Given the description of an element on the screen output the (x, y) to click on. 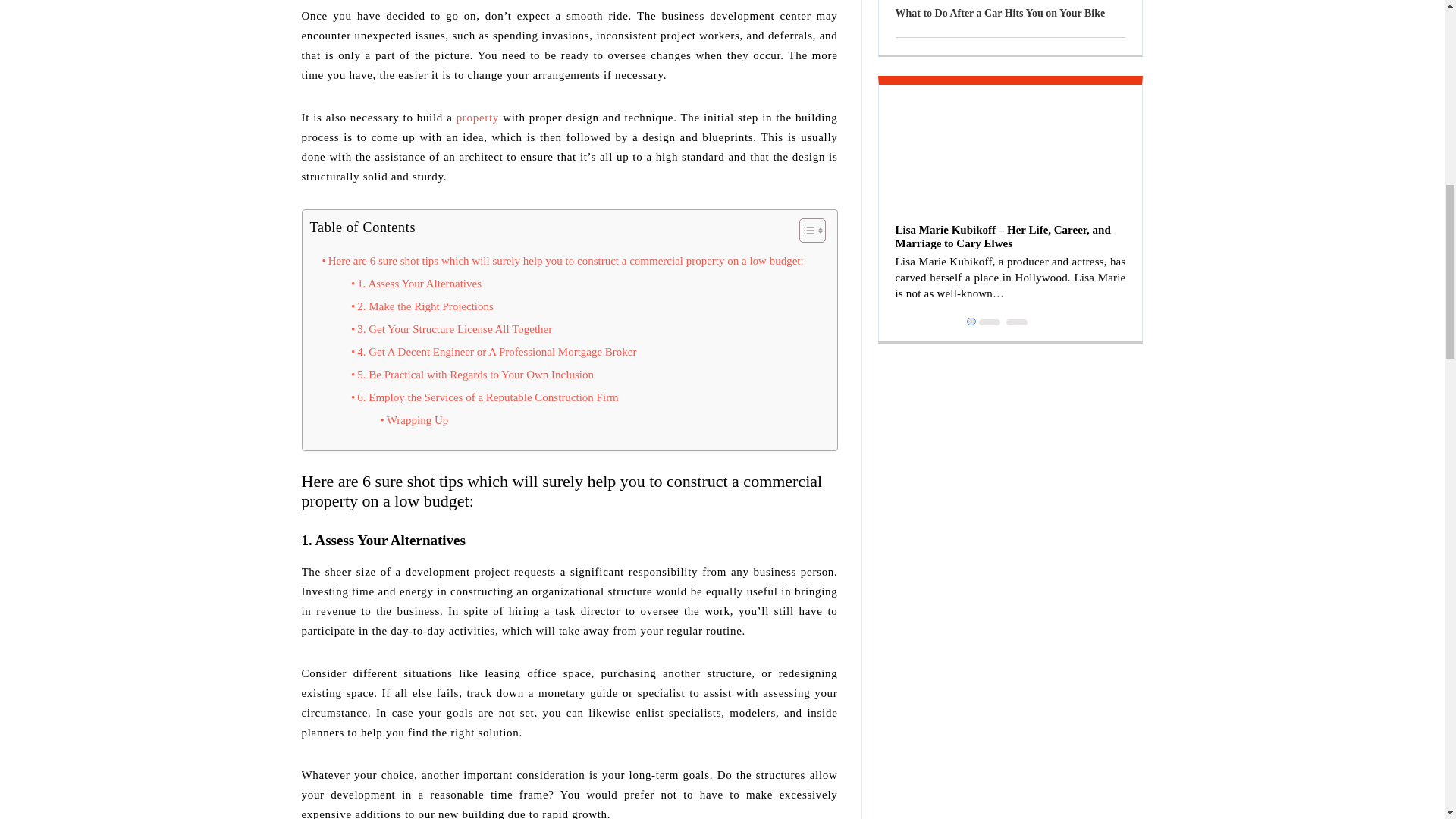
5. Be Practical with Regards to Your Own Inclusion (472, 374)
1. Assess Your Alternatives  (415, 283)
2. Make the Right Projections (421, 306)
Wrapping Up (414, 420)
4. Get A Decent Engineer or A Professional Mortgage Broker (493, 352)
6. Employ the Services of a Reputable Construction Firm (484, 397)
3. Get Your Structure License All Together (450, 329)
